Given the description of an element on the screen output the (x, y) to click on. 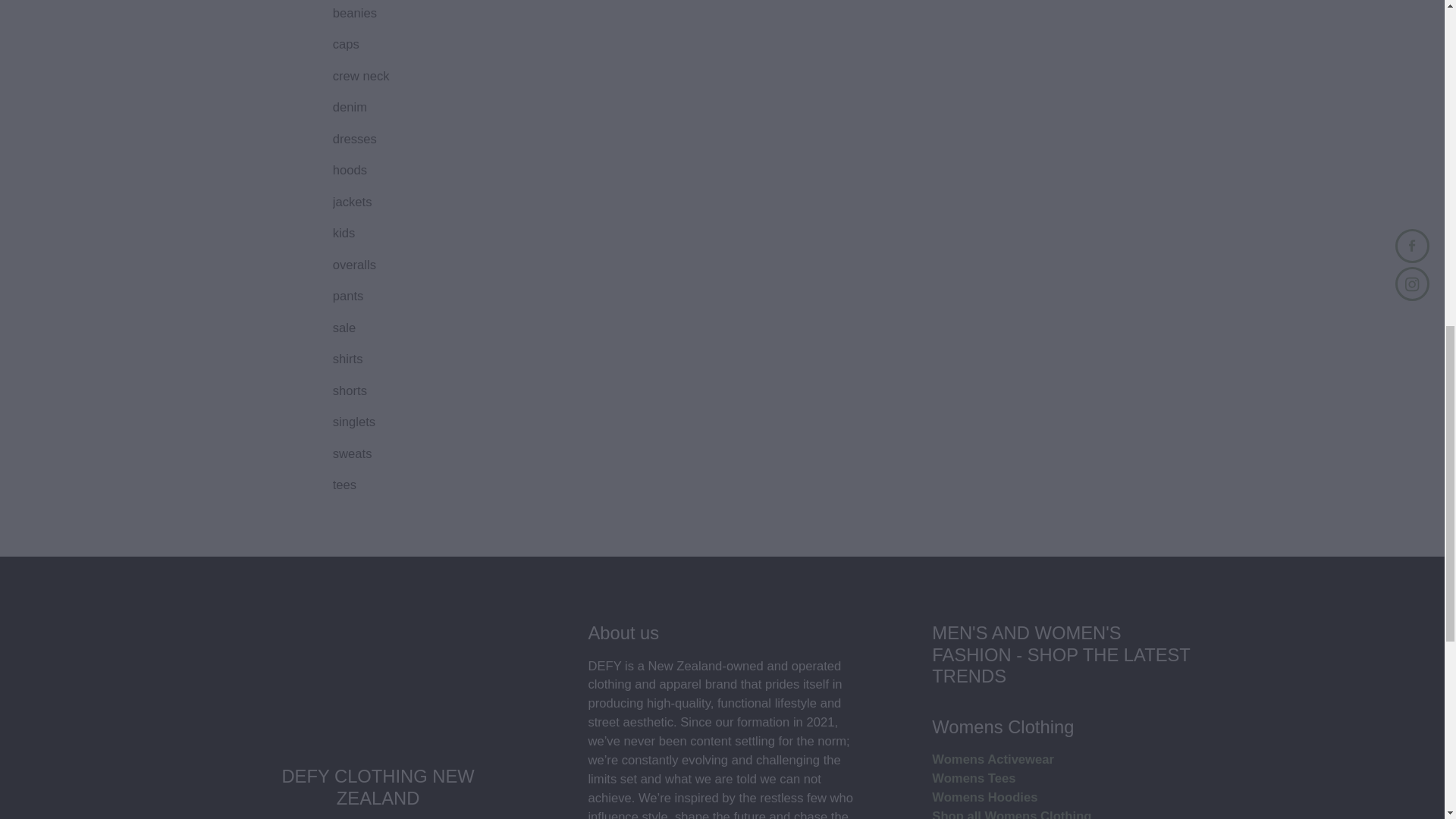
kids (411, 232)
jackets (411, 201)
dresses (411, 138)
hoods (411, 169)
overalls (411, 264)
denim (411, 106)
crew neck (411, 74)
beanies (411, 11)
caps (411, 43)
